Given the description of an element on the screen output the (x, y) to click on. 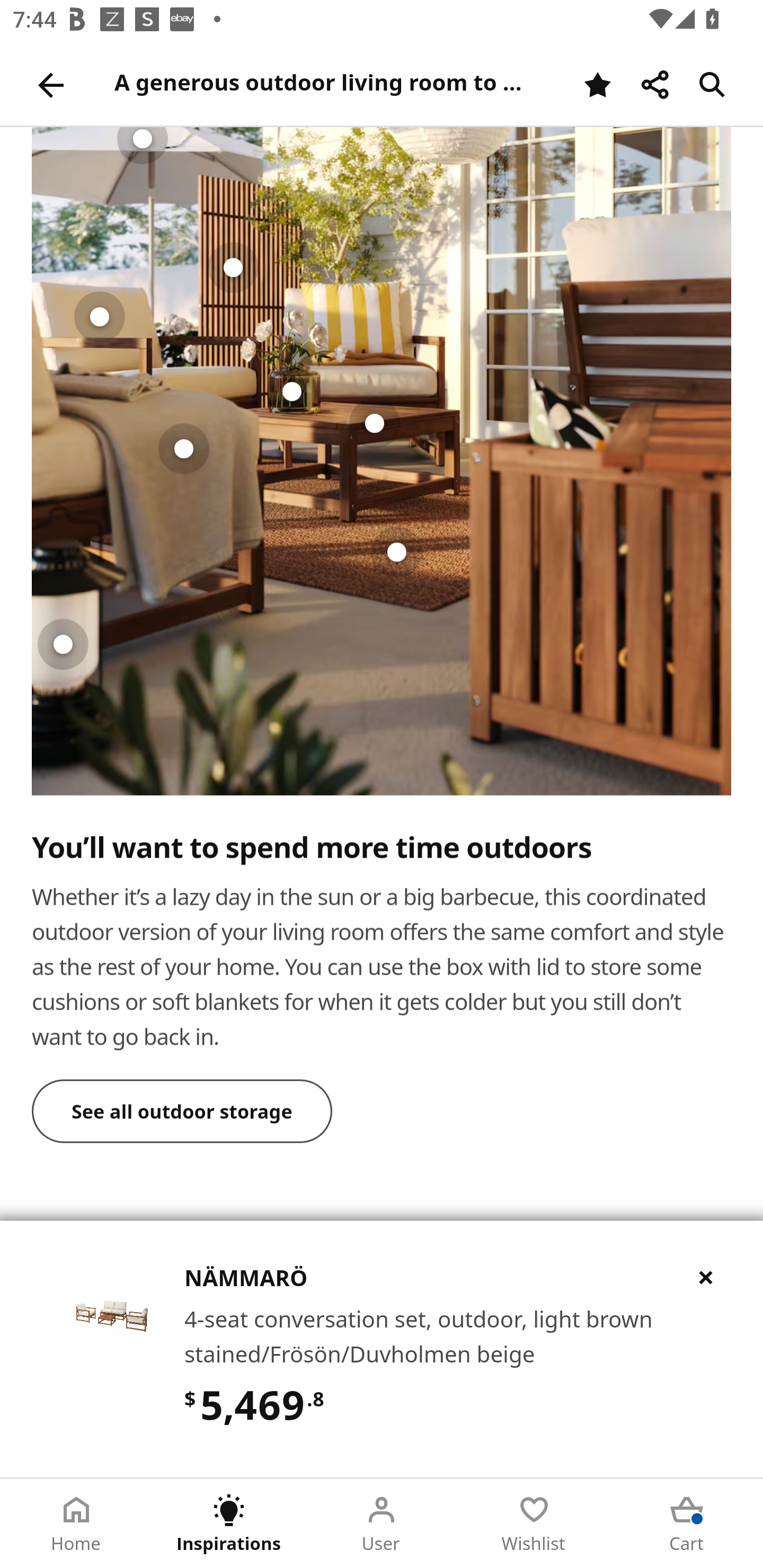
See all outdoor storage (181, 1111)
Home
Tab 1 of 5 (76, 1522)
Inspirations
Tab 2 of 5 (228, 1522)
User
Tab 3 of 5 (381, 1522)
Wishlist
Tab 4 of 5 (533, 1522)
Cart
Tab 5 of 5 (686, 1522)
